Given the description of an element on the screen output the (x, y) to click on. 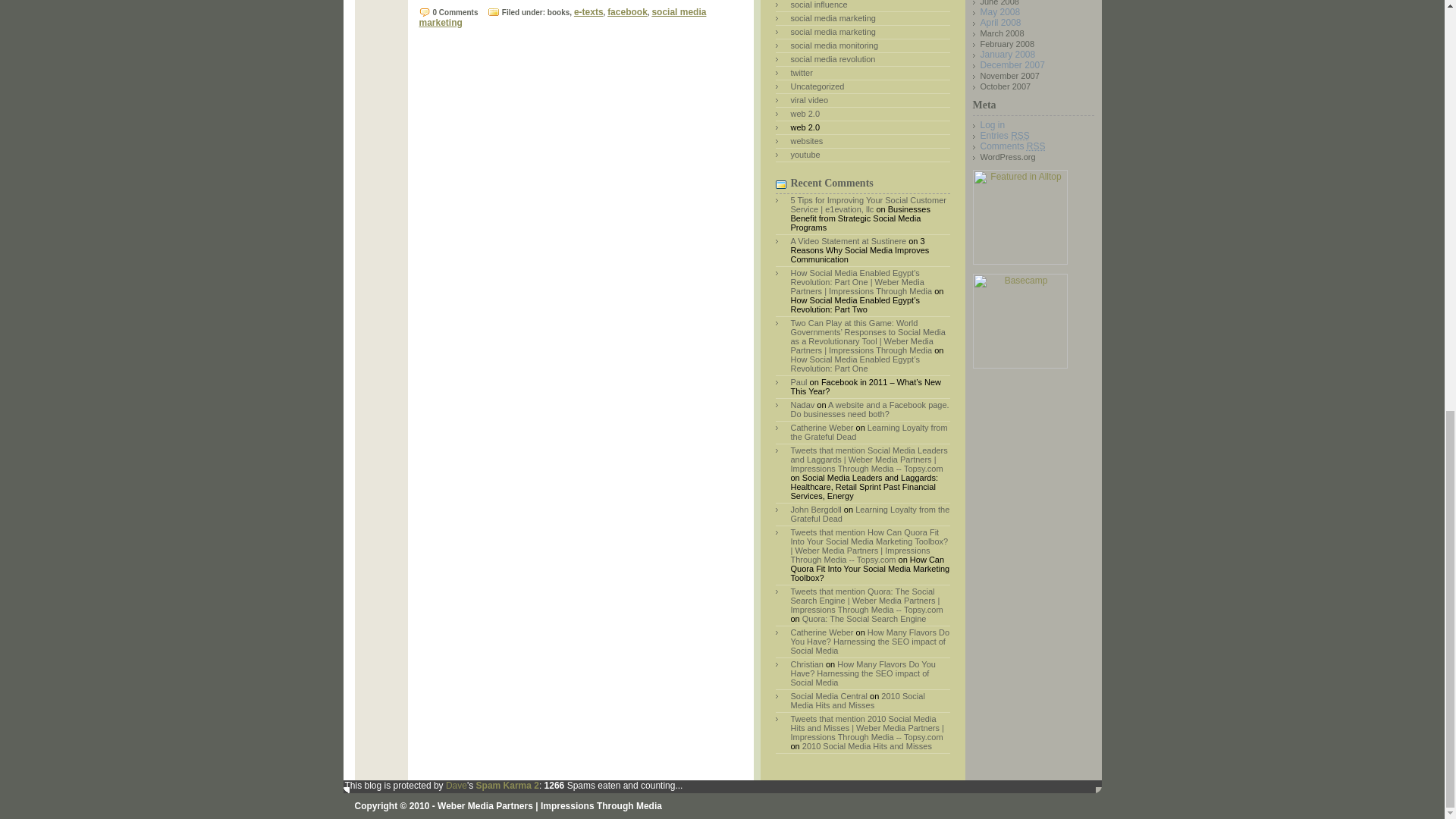
Uncategorized (817, 85)
Learning Loyalty from the Grateful Dead (868, 432)
social media marketing (562, 16)
e-texts (588, 11)
web 2.0 (804, 112)
websites (806, 140)
View all posts in e-texts (588, 11)
social media monitoring (833, 44)
youtube (804, 153)
twitter (801, 71)
